Given the description of an element on the screen output the (x, y) to click on. 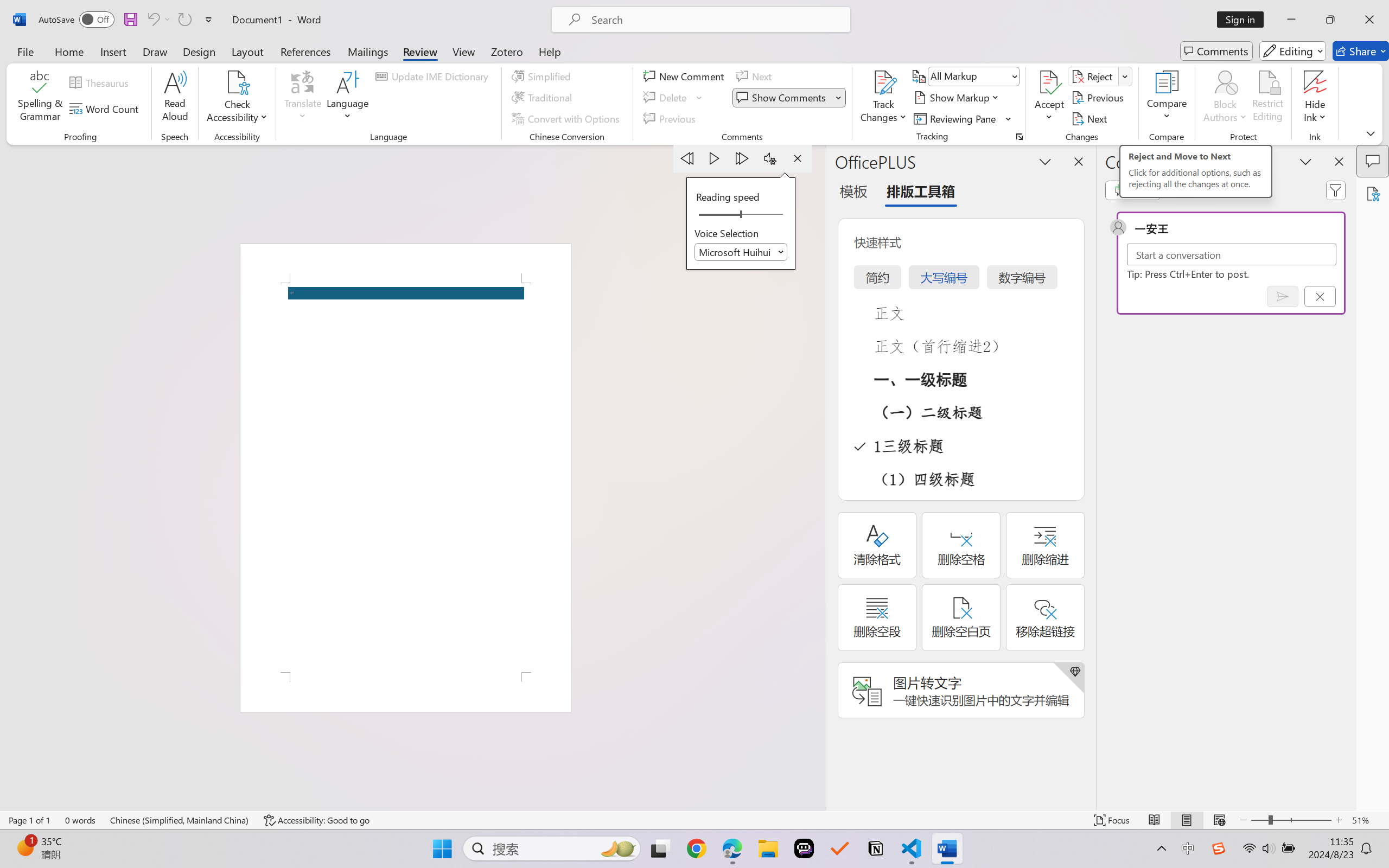
Start a conversation (1231, 254)
Next (1090, 118)
Accept and Move to Next (1049, 81)
Delete (666, 97)
Voice Selection (740, 252)
